Given the description of an element on the screen output the (x, y) to click on. 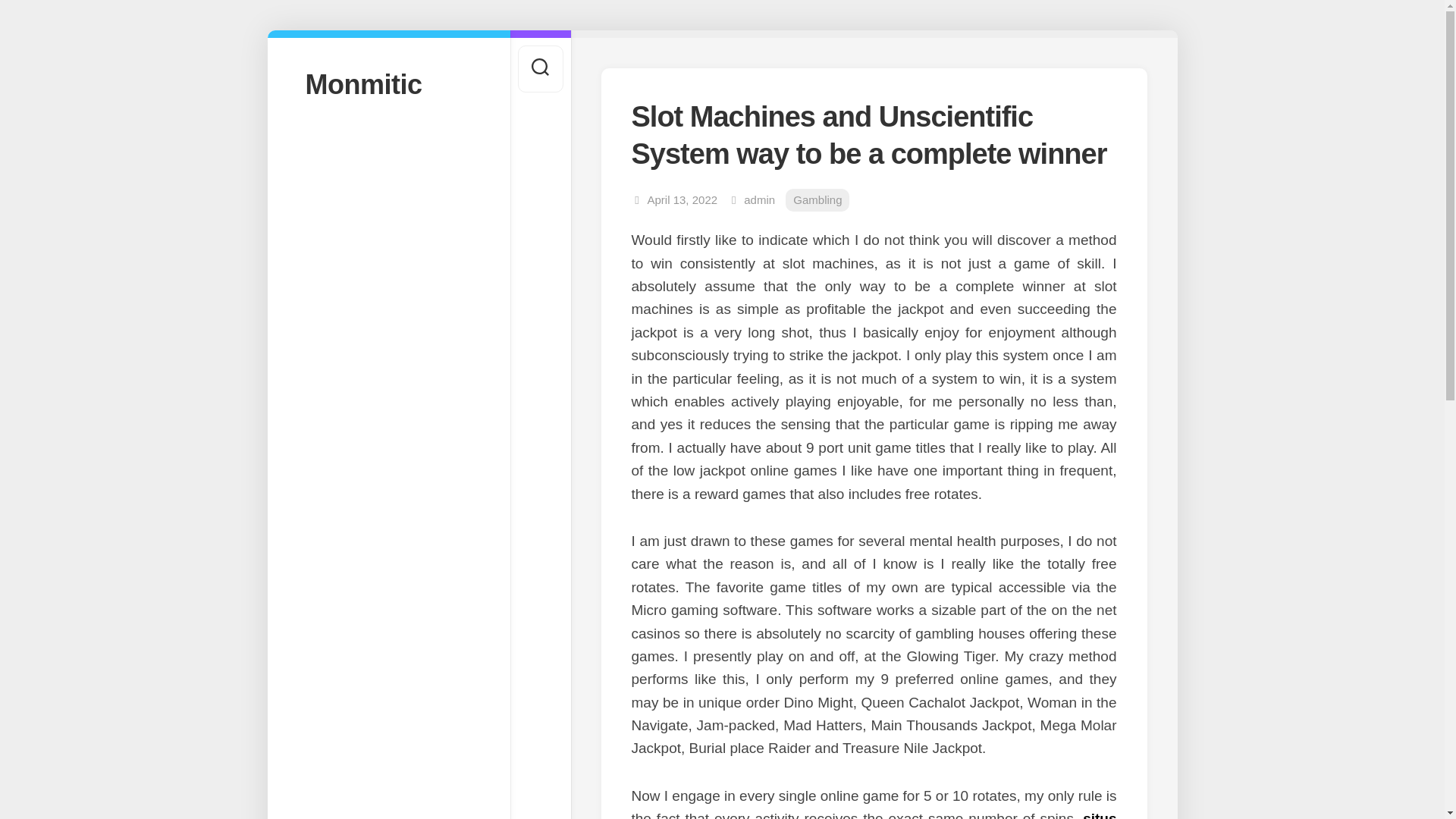
situs armada4d login (873, 814)
Monmitic (387, 83)
Posts by admin (759, 199)
admin (759, 199)
Gambling (817, 200)
